Given the description of an element on the screen output the (x, y) to click on. 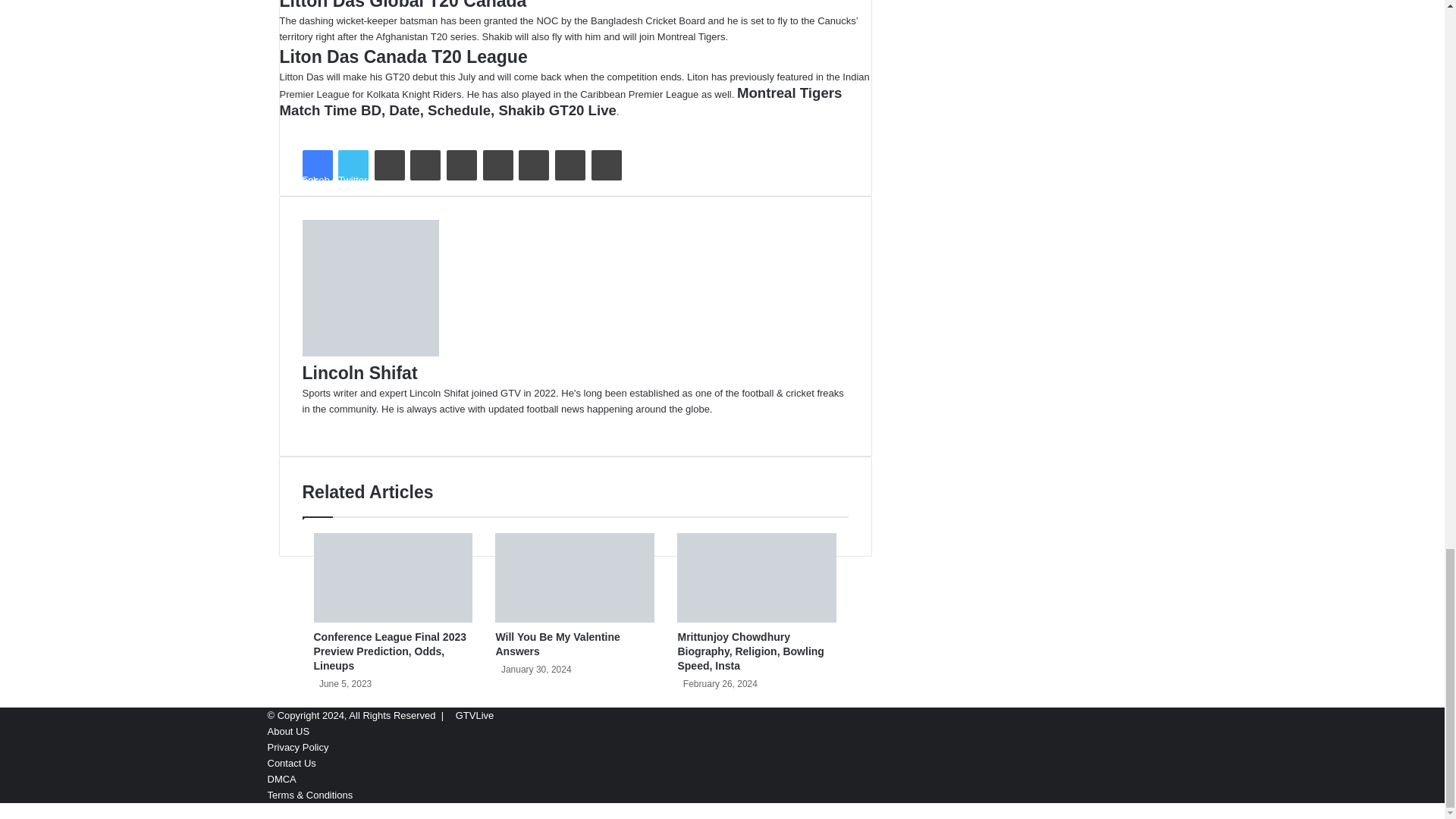
VKontakte (533, 164)
Reddit (498, 164)
Pinterest (461, 164)
Facebook (316, 164)
Facebook (316, 164)
Twitter (352, 164)
Share via Email (569, 164)
Tumblr (425, 164)
LinkedIn (389, 164)
